Given the description of an element on the screen output the (x, y) to click on. 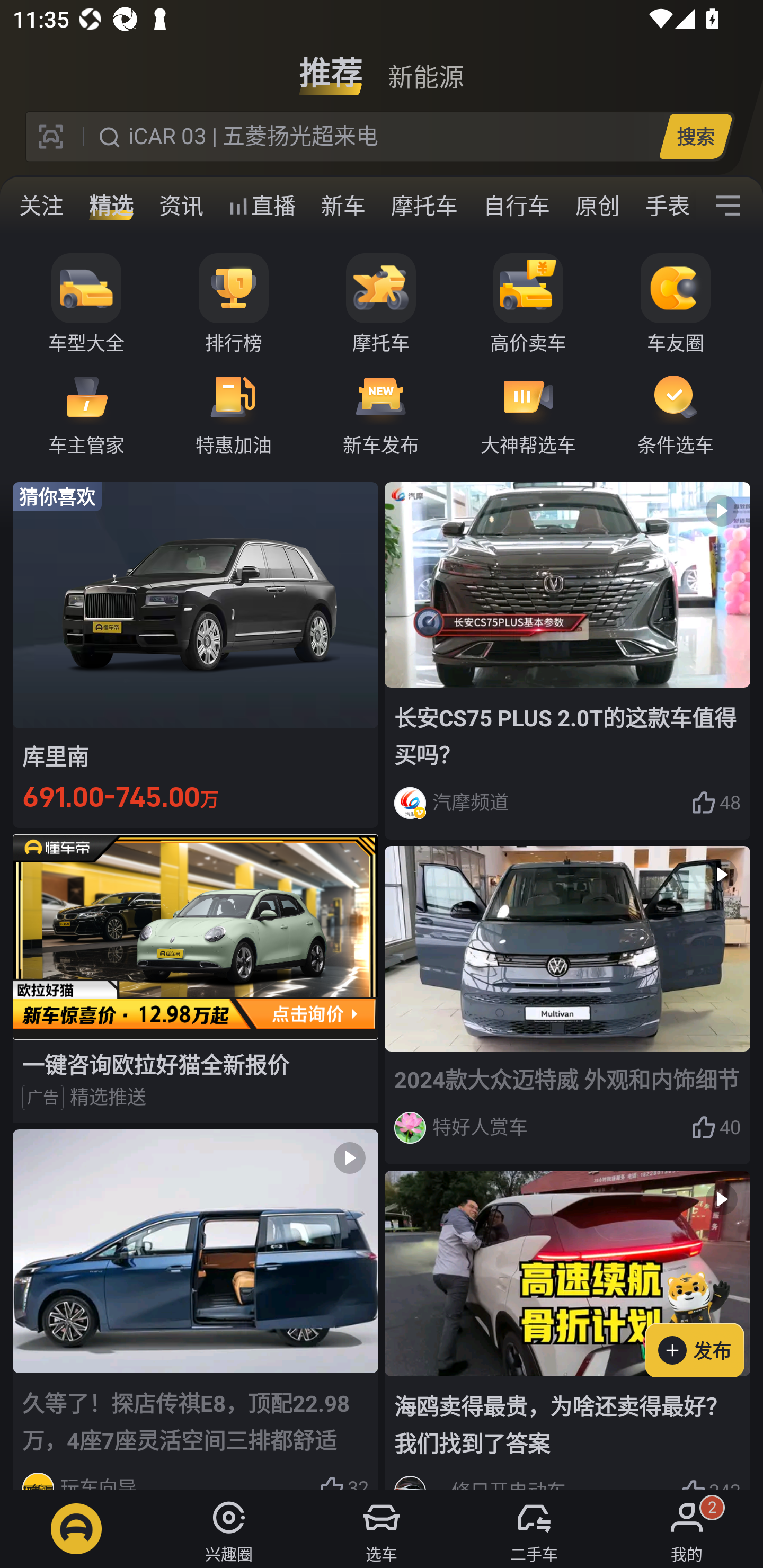
推荐 (330, 65)
新能源 (425, 65)
搜索 (695, 136)
关注 (41, 205)
精选 (111, 205)
资讯 (180, 205)
直播 (261, 205)
新车 (343, 205)
摩托车 (424, 205)
自行车 (516, 205)
原创 (597, 205)
手表 (663, 205)
 (727, 205)
车型大全 (86, 303)
排行榜 (233, 303)
摩托车 (380, 303)
高价卖车 (528, 303)
车友圈 (675, 303)
车主管家 (86, 412)
特惠加油 (233, 412)
新车发布 (380, 412)
大神帮选车 (528, 412)
条件选车 (675, 412)
猜你喜欢 库里南 691.00-745.00万 (195, 654)
 长安CS75 PLUS 2.0T的这款车值得买吗？ 汽摩频道 48 (567, 659)
48 (715, 802)
一键咨询欧拉好猫全新报价 广告 精选推送 (195, 978)
 2024款大众迈特威 外观和内饰细节 特好人赏车 40 (567, 1005)
40 (715, 1126)
 久等了！探店传祺E8，顶配22.98万，4座7座灵活空间三排都舒适 玩车向导 32 (195, 1308)
 海鸥卖得最贵，为啥还卖得最好？我们找到了答案 一修只开电动车 343 (567, 1330)
发布 (704, 1320)
 兴趣圈 (228, 1528)
 选车 (381, 1528)
 二手车 (533, 1528)
 我的 (686, 1528)
